Given the description of an element on the screen output the (x, y) to click on. 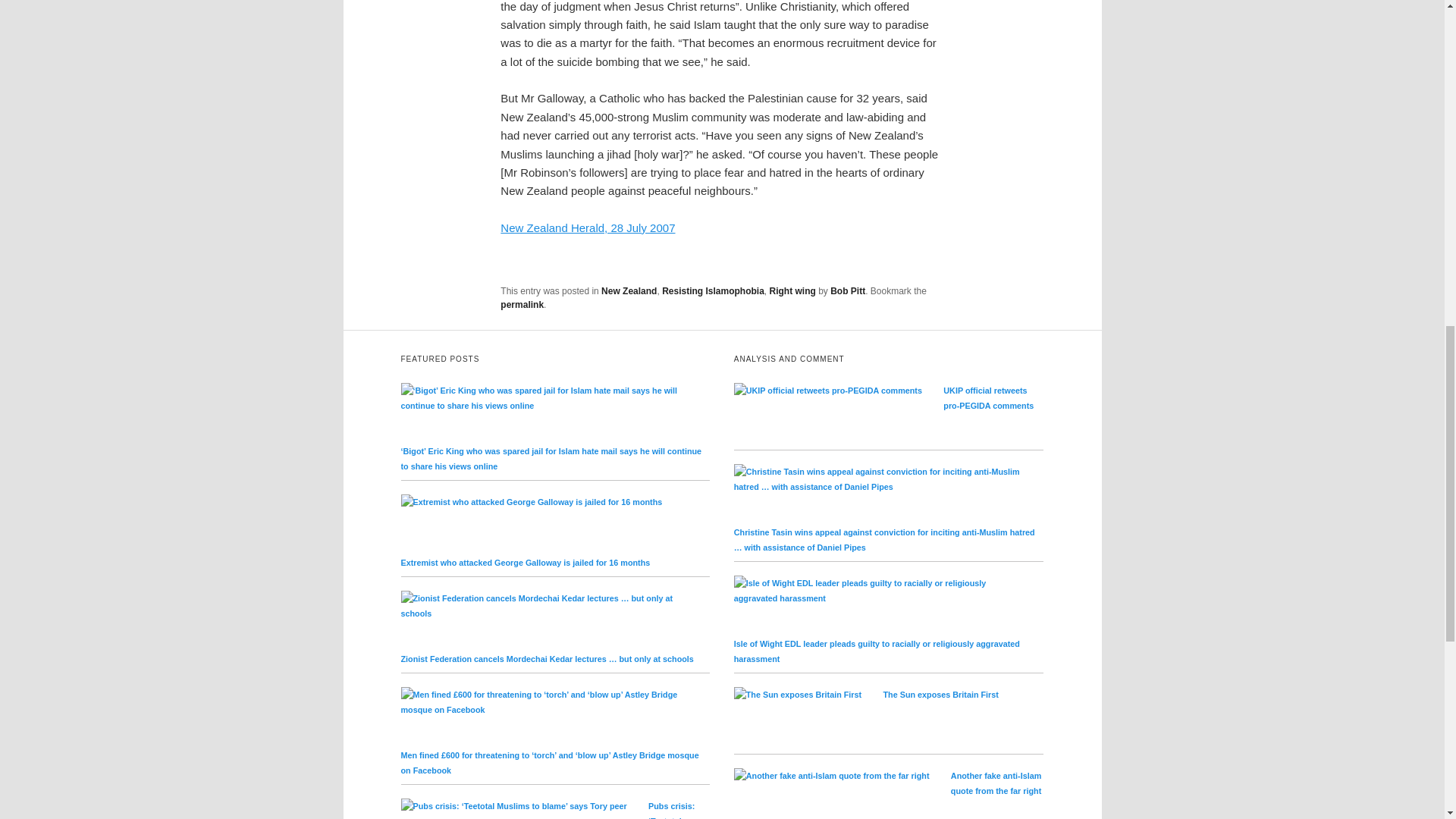
Bob Pitt (846, 290)
Resisting Islamophobia (713, 290)
New Zealand Herald, 28 July 2007 (587, 227)
permalink (521, 304)
Permalink to Galloway takes on Islamophobia in New Zealand (521, 304)
New Zealand (628, 290)
Right wing (791, 290)
